Given the description of an element on the screen output the (x, y) to click on. 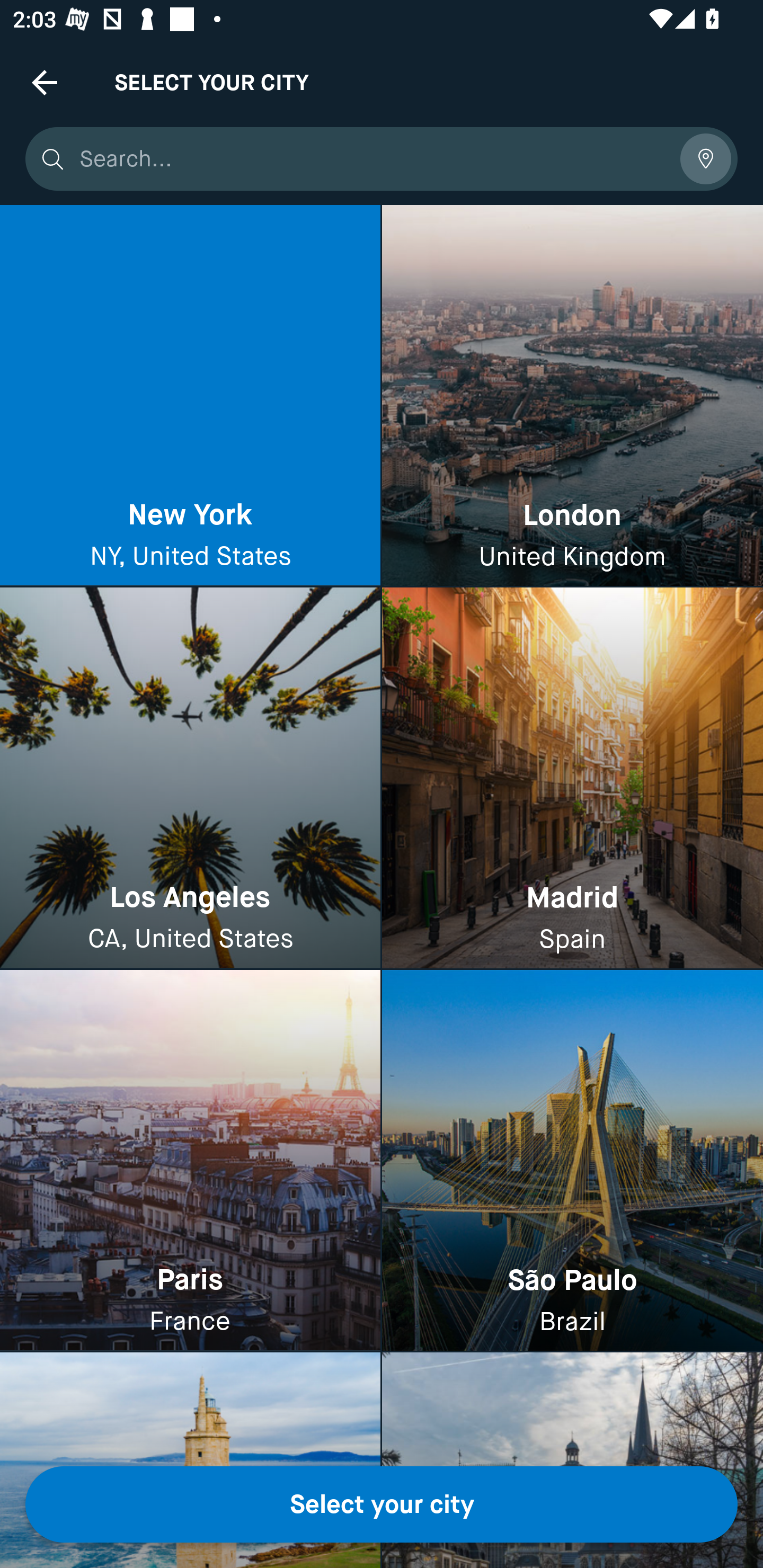
Navigate up (44, 82)
Search... (373, 159)
New York NY, United States (190, 395)
London United Kingdom (572, 395)
Los Angeles CA, United States (190, 778)
Madrid Spain (572, 778)
Paris France (190, 1160)
São Paulo Brazil (572, 1160)
Select your city (381, 1504)
